Given the description of an element on the screen output the (x, y) to click on. 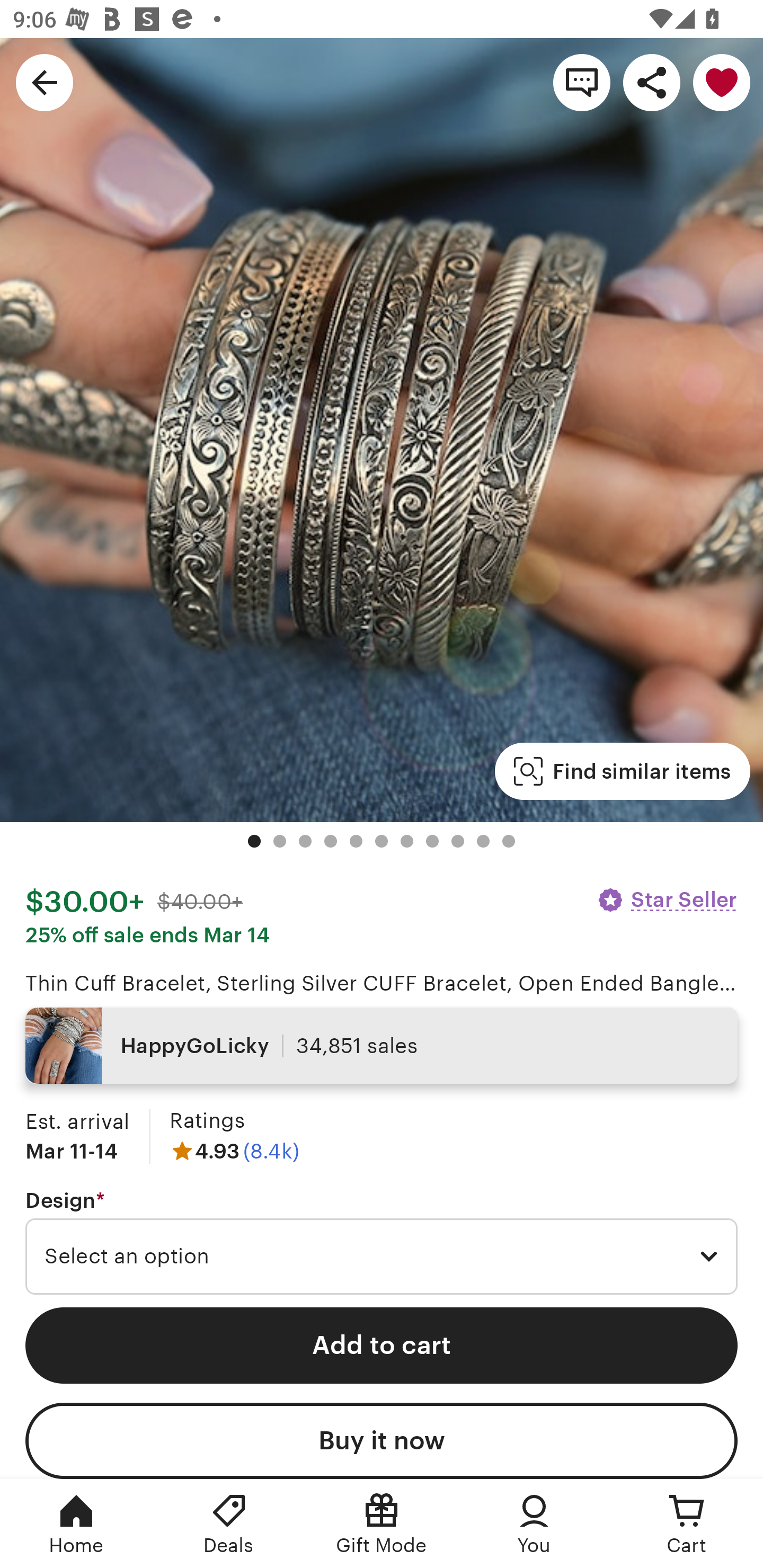
Navigate up (44, 81)
Contact shop (581, 81)
Share (651, 81)
Find similar items (622, 771)
Star Seller (666, 899)
HappyGoLicky 34,851 sales (381, 1045)
Ratings (206, 1120)
4.93 (8.4k) (234, 1150)
Design * Required Select an option (381, 1241)
Select an option (381, 1256)
Add to cart (381, 1344)
Buy it now (381, 1440)
Deals (228, 1523)
Gift Mode (381, 1523)
You (533, 1523)
Cart (686, 1523)
